Given the description of an element on the screen output the (x, y) to click on. 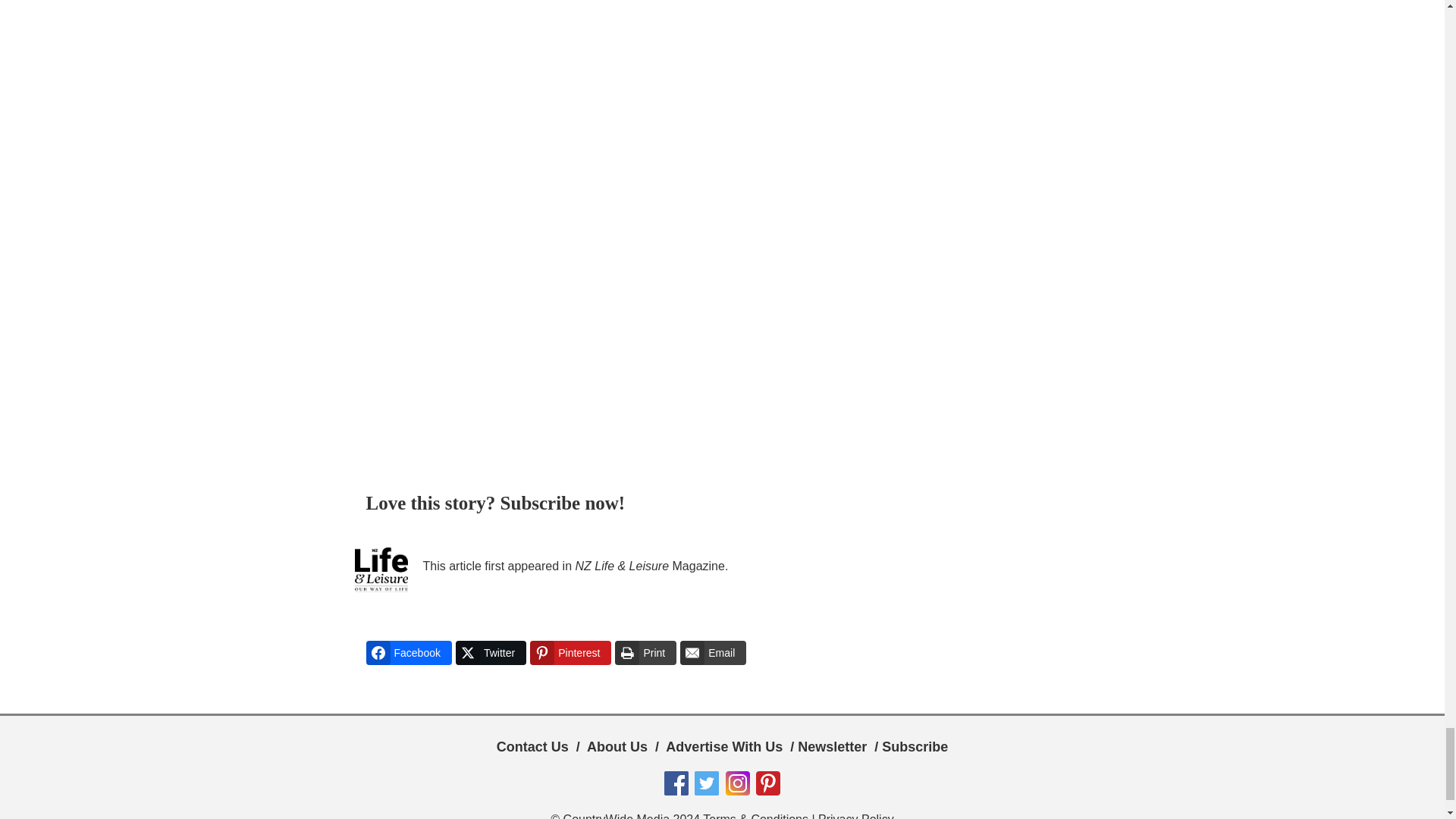
Share on Print (645, 652)
Facebook (408, 652)
Share on Pinterest (570, 652)
Pinterest (570, 652)
Share on Facebook (408, 652)
Email (712, 652)
Subscribe now! (563, 503)
Print (645, 652)
Share on Email (712, 652)
Share on Twitter (490, 652)
Twitter (490, 652)
